Given the description of an element on the screen output the (x, y) to click on. 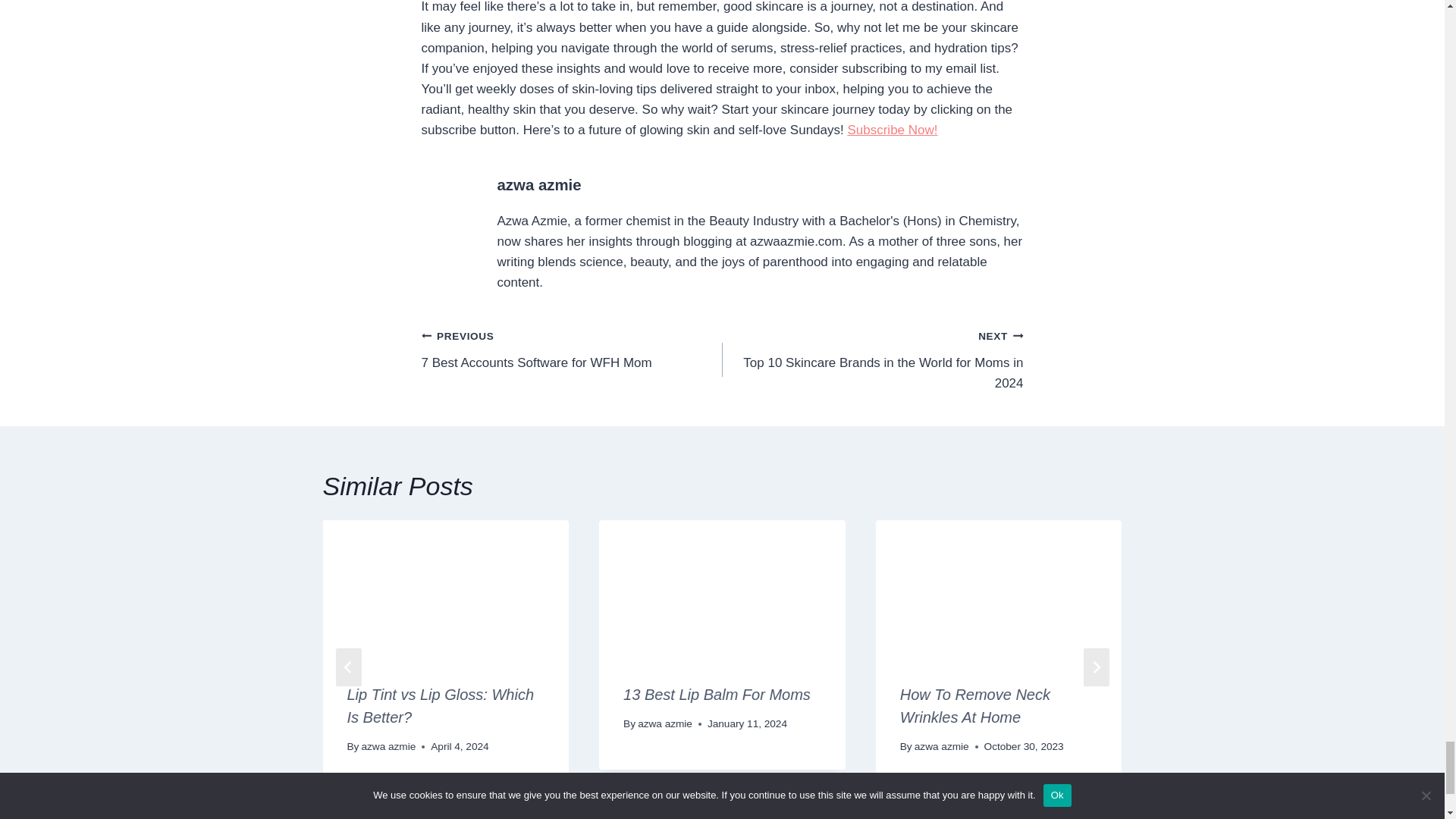
azwa azmie (538, 184)
Subscribe Now! (892, 129)
Posts by azwa azmie (872, 359)
